Given the description of an element on the screen output the (x, y) to click on. 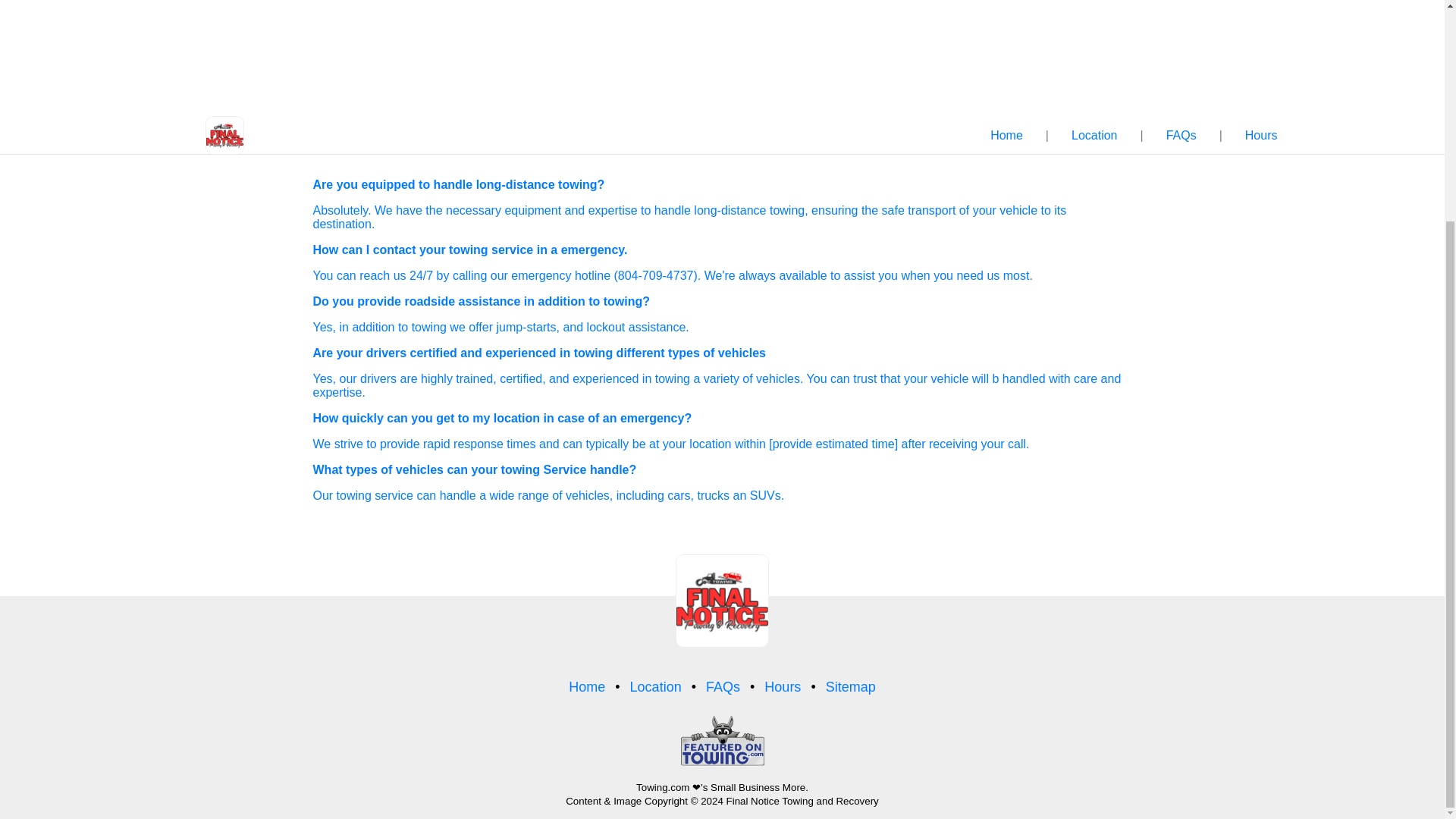
Location (1092, 135)
Hours (782, 686)
FAQs (722, 686)
FAQs (1179, 135)
Home (587, 686)
Location (655, 686)
Hours (1260, 135)
Sitemap (850, 686)
Home (1006, 135)
